Given the description of an element on the screen output the (x, y) to click on. 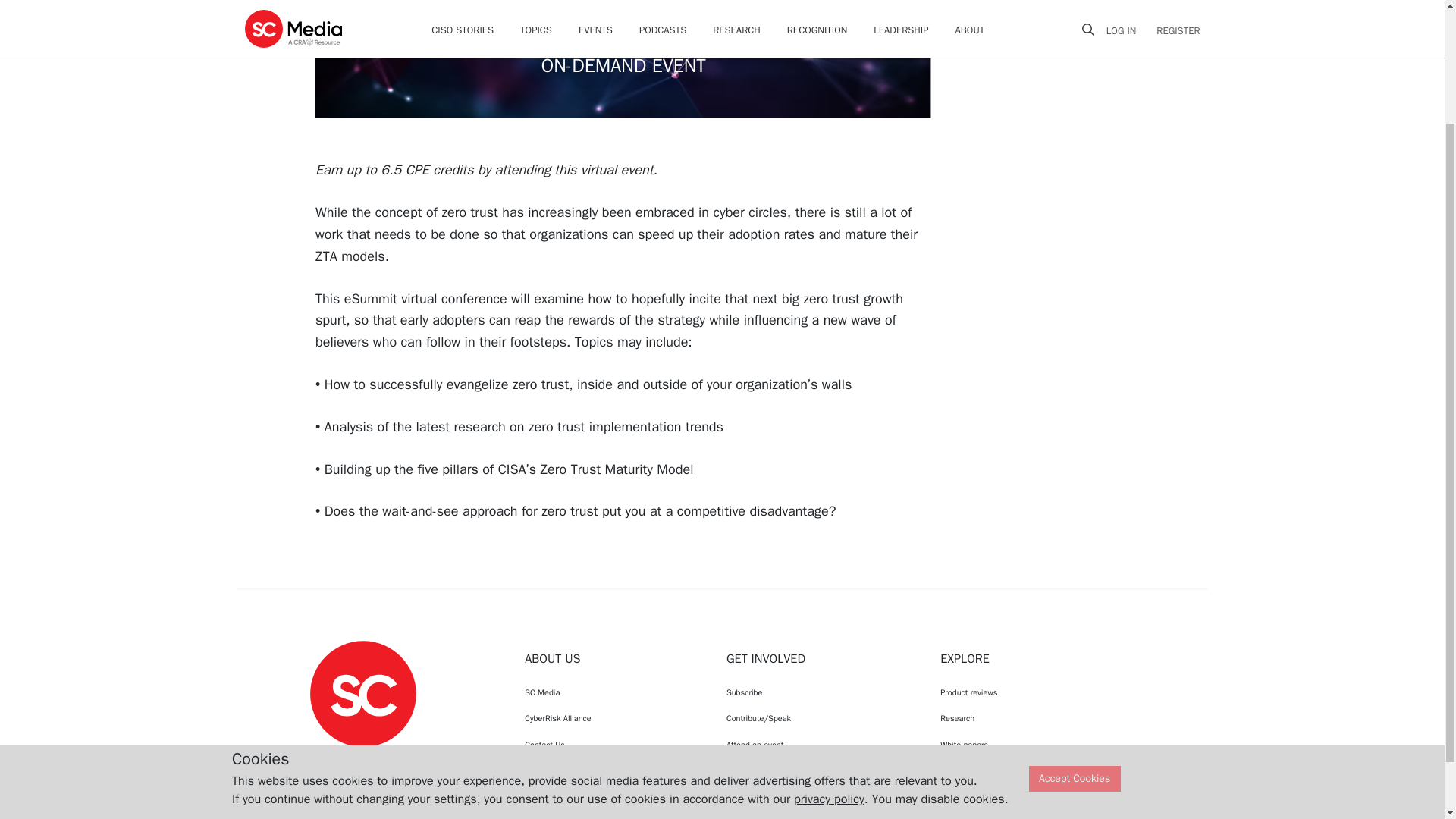
privacy policy (828, 654)
Privacy (612, 796)
Subscribe (819, 692)
Podcasts (1022, 796)
Careers (612, 769)
SC Media (362, 693)
Webcasts (1022, 769)
White papers (1022, 744)
SCMagazine on Twitter (362, 760)
SC Media (612, 692)
Join a peer group (819, 769)
Product reviews (1022, 692)
SCMagazine on LinkedIn (401, 760)
Research (1022, 718)
Partner With Us (819, 796)
